Given the description of an element on the screen output the (x, y) to click on. 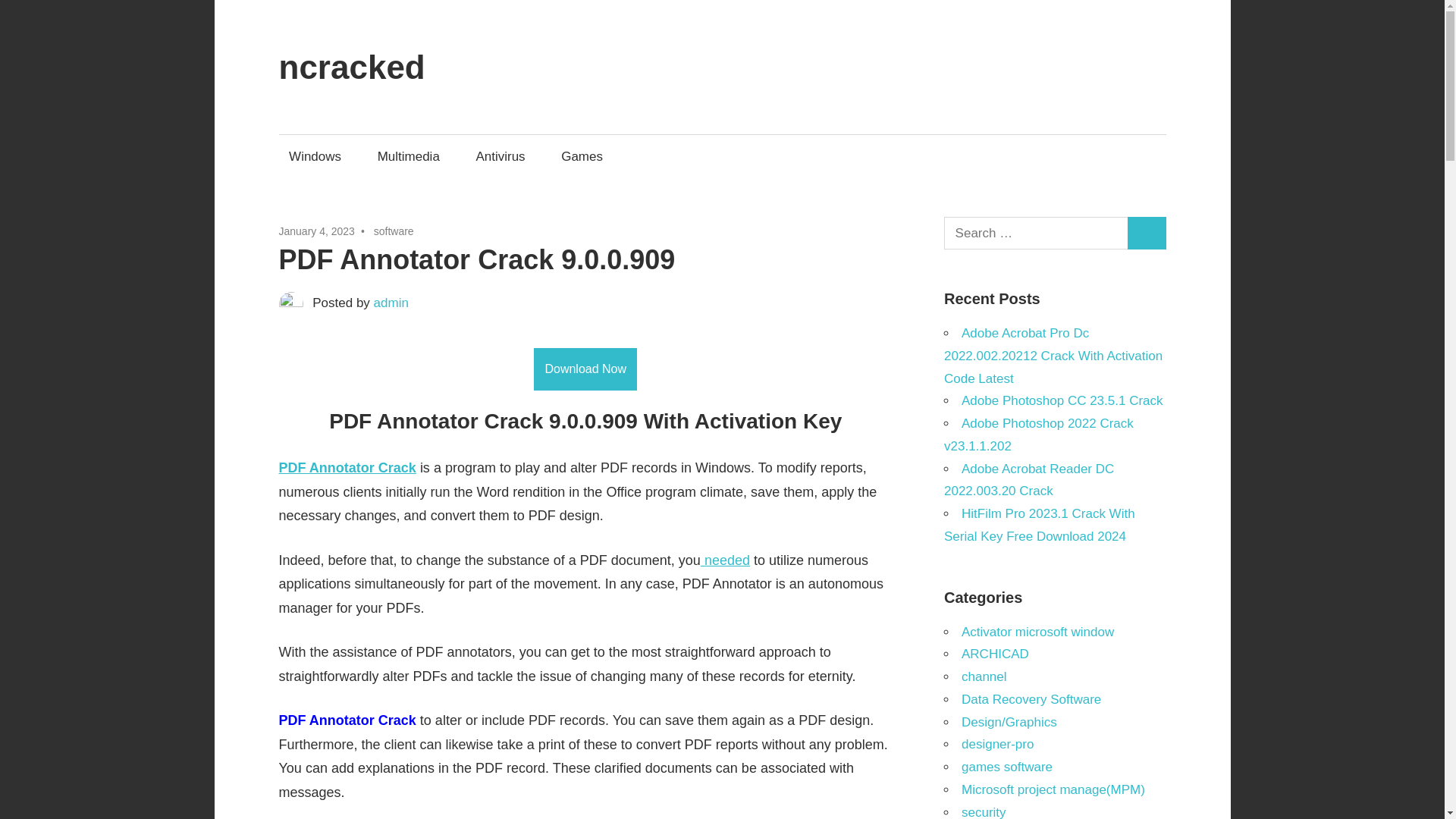
Download Now (585, 369)
View all posts by admin (391, 302)
Multimedia (407, 156)
January 4, 2023 (317, 231)
software (393, 231)
ncracked (352, 66)
Search (1146, 233)
Antivirus (500, 156)
Search for: (1035, 233)
needed (724, 560)
PDF Annotator Crack (347, 467)
Windows (315, 156)
Games (581, 156)
Download Now (585, 368)
